Given the description of an element on the screen output the (x, y) to click on. 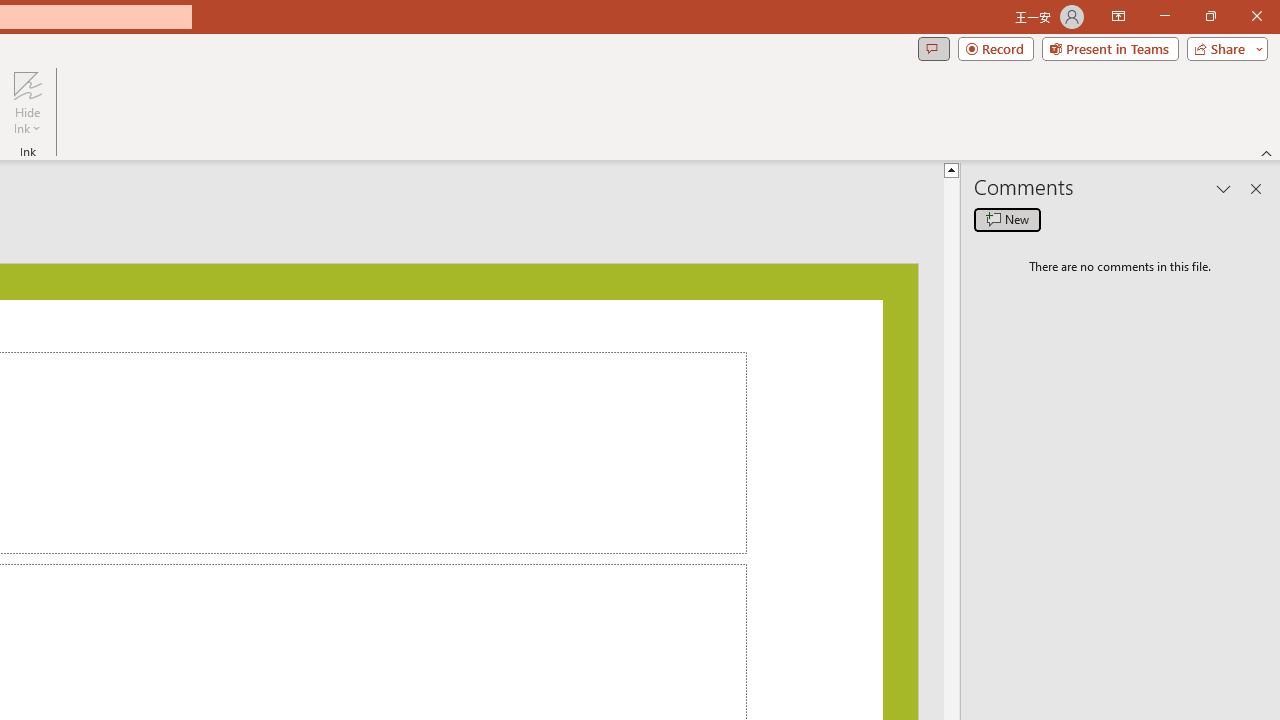
Hide Ink (27, 84)
New comment (1007, 219)
Hide Ink (27, 102)
